Given the description of an element on the screen output the (x, y) to click on. 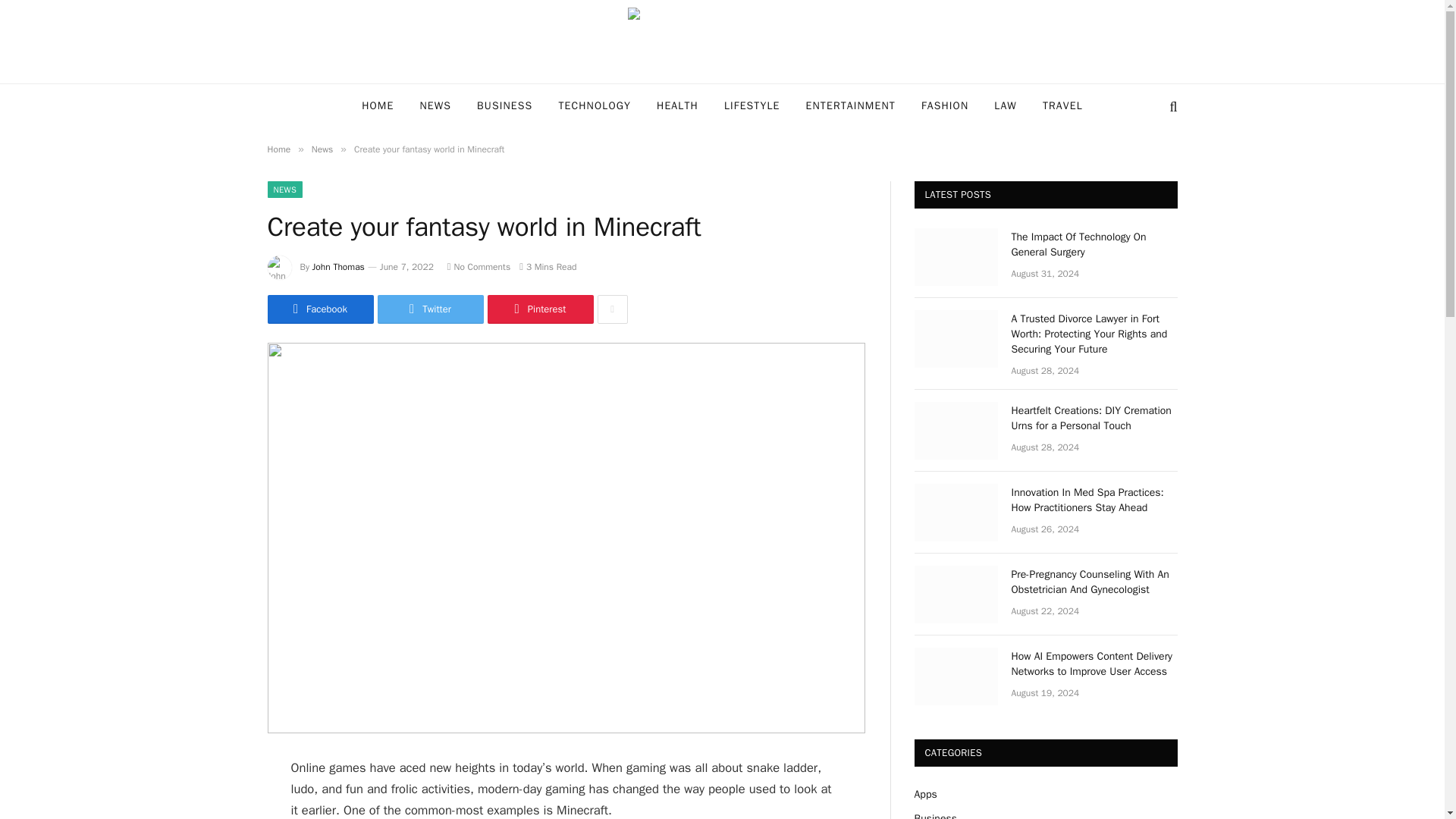
Share on Facebook (319, 308)
No Comments (478, 266)
Share on Pinterest (539, 308)
ENTERTAINMENT (850, 106)
Delascalles.com (721, 41)
Home (277, 149)
NEWS (435, 106)
Posts by John Thomas (339, 266)
LAW (1005, 106)
